Given the description of an element on the screen output the (x, y) to click on. 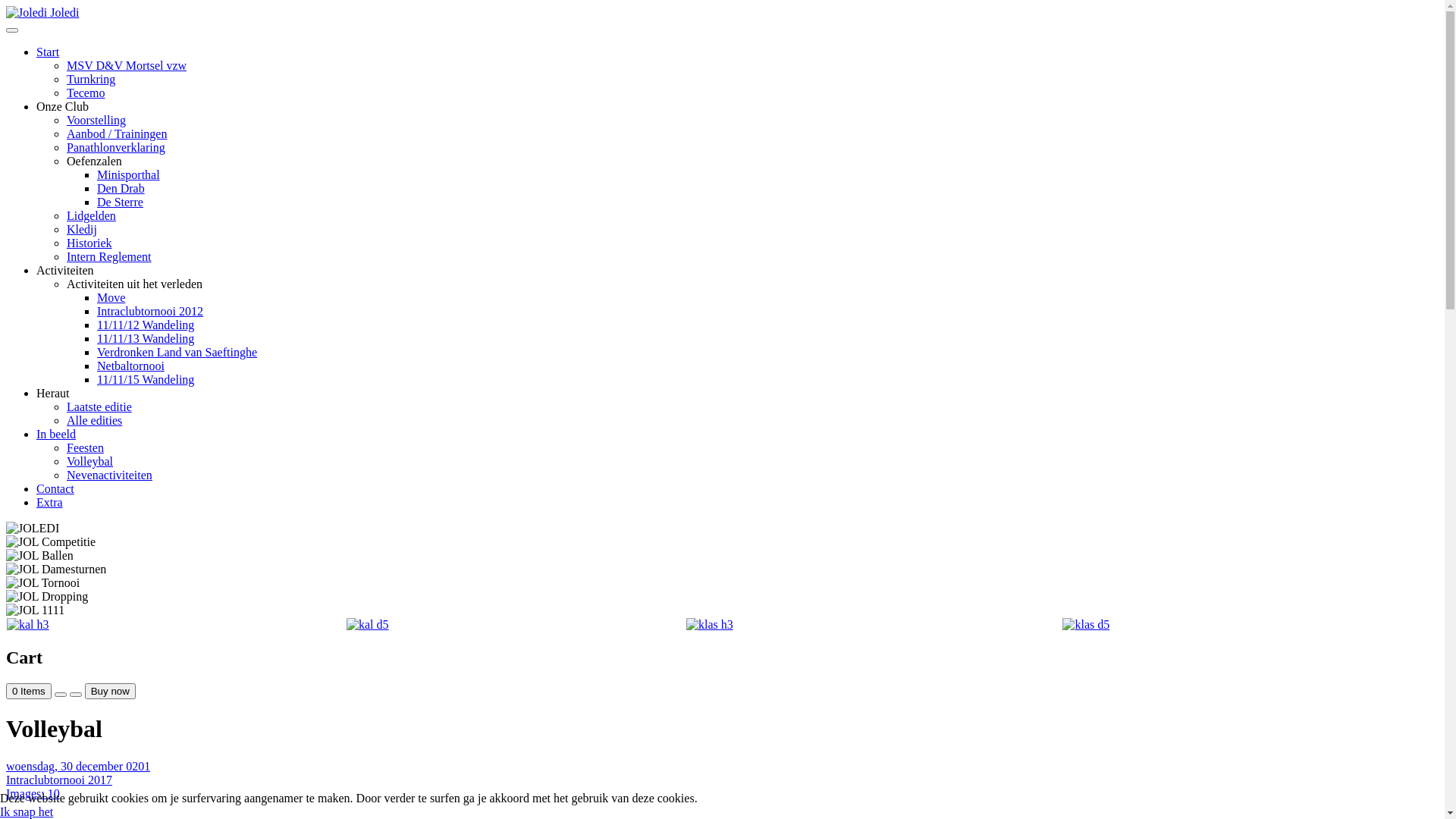
Contact Element type: text (55, 488)
Start Element type: text (47, 51)
Feesten Element type: text (84, 447)
Laatste editie Element type: text (98, 406)
Move Element type: text (111, 297)
Hide older items Element type: hover (75, 694)
Alle edities Element type: text (94, 420)
Aanbod / Trainingen Element type: text (116, 133)
De Sterre Element type: text (120, 201)
Joledi Element type: text (42, 12)
Netbaltornooi Element type: text (130, 365)
Minisporthal Element type: text (128, 174)
11/11/12 Wandeling Element type: text (145, 324)
Voorstelling Element type: text (95, 119)
Tecemo Element type: text (85, 92)
Lidgelden Element type: text (91, 215)
Kledij Element type: text (81, 228)
Panathlonverklaring Element type: text (115, 147)
Nevenactiviteiten Element type: text (109, 474)
Verdronken Land van Saeftinghe Element type: text (177, 351)
0 Items Element type: text (28, 691)
Buy now Element type: text (109, 691)
Extra Element type: text (49, 501)
11/11/15 Wandeling Element type: text (145, 379)
MSV D&V Mortsel vzw Element type: text (126, 65)
Den Drab Element type: text (120, 188)
Ik snap het Element type: text (26, 811)
Historiek Element type: text (89, 242)
Turnkring Element type: text (90, 78)
Intern Reglement Element type: text (108, 256)
Volleybal Element type: text (89, 461)
11/11/13 Wandeling Element type: text (145, 338)
Show all items Element type: hover (60, 694)
In beeld Element type: text (55, 433)
Intraclubtornooi 2012 Element type: text (150, 310)
